Given the description of an element on the screen output the (x, y) to click on. 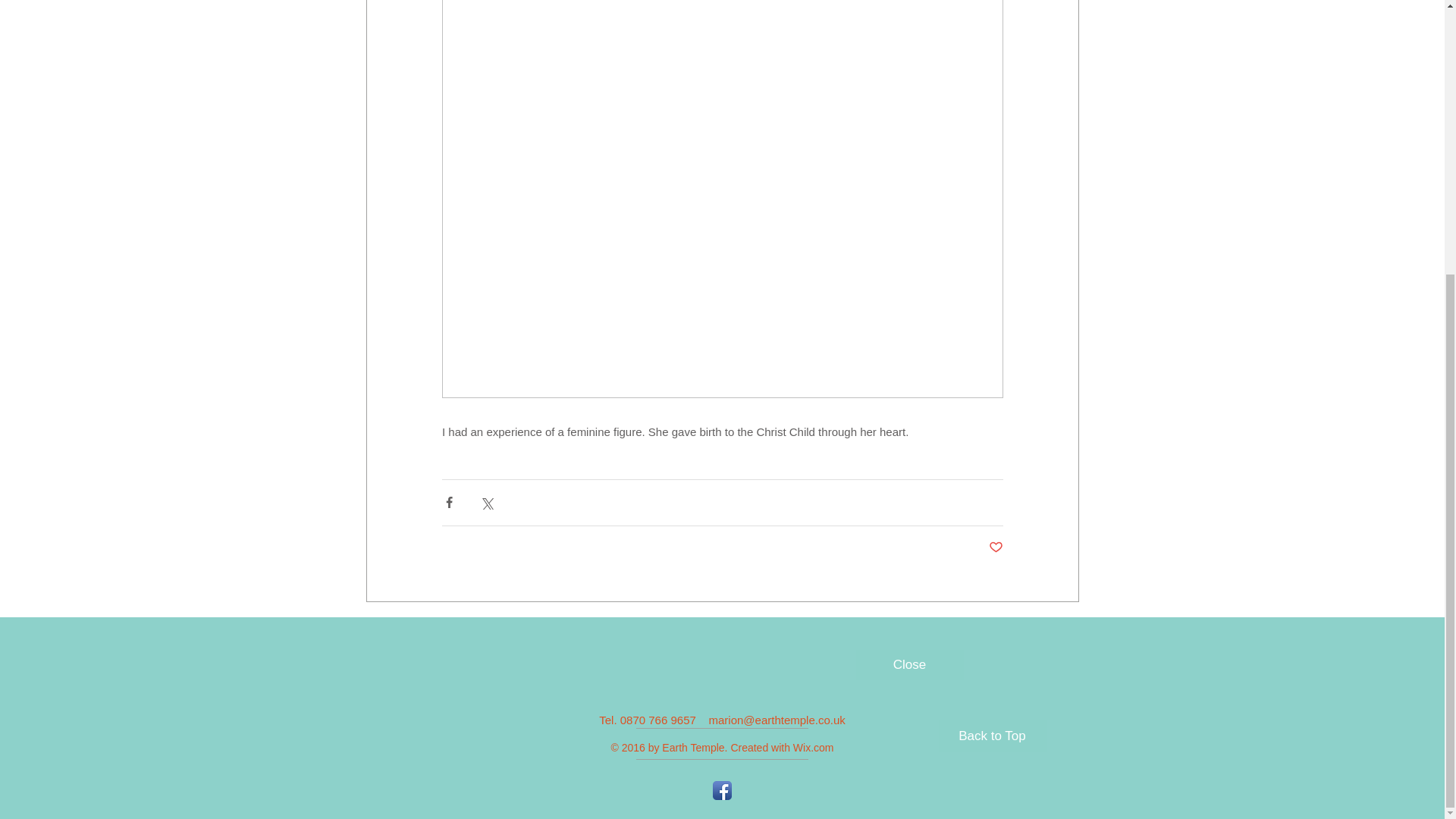
Close (909, 665)
Wix.com (813, 747)
Post not marked as liked (995, 547)
Back to Top (992, 736)
